Given the description of an element on the screen output the (x, y) to click on. 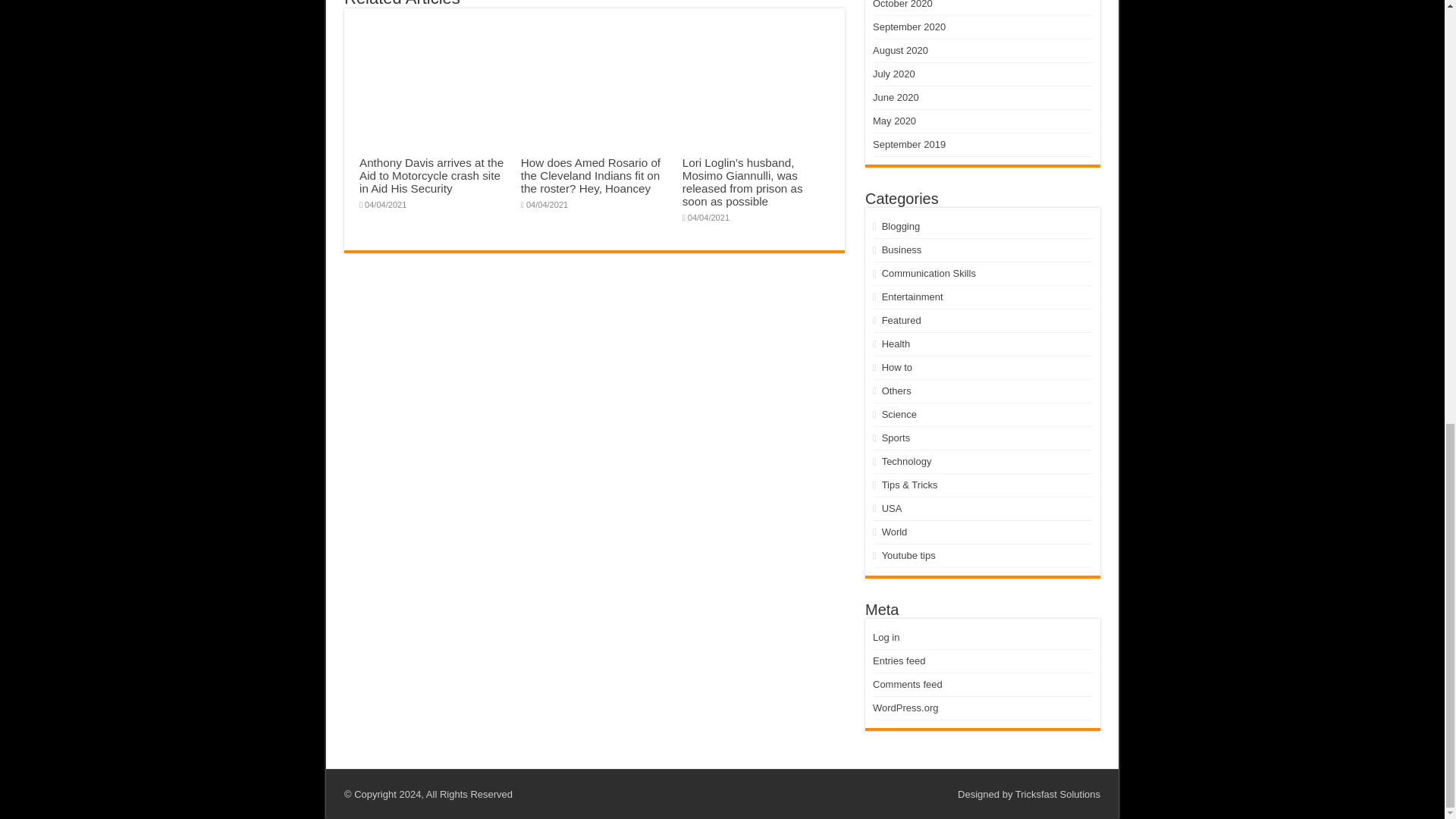
Scroll To Top (1421, 7)
